Given the description of an element on the screen output the (x, y) to click on. 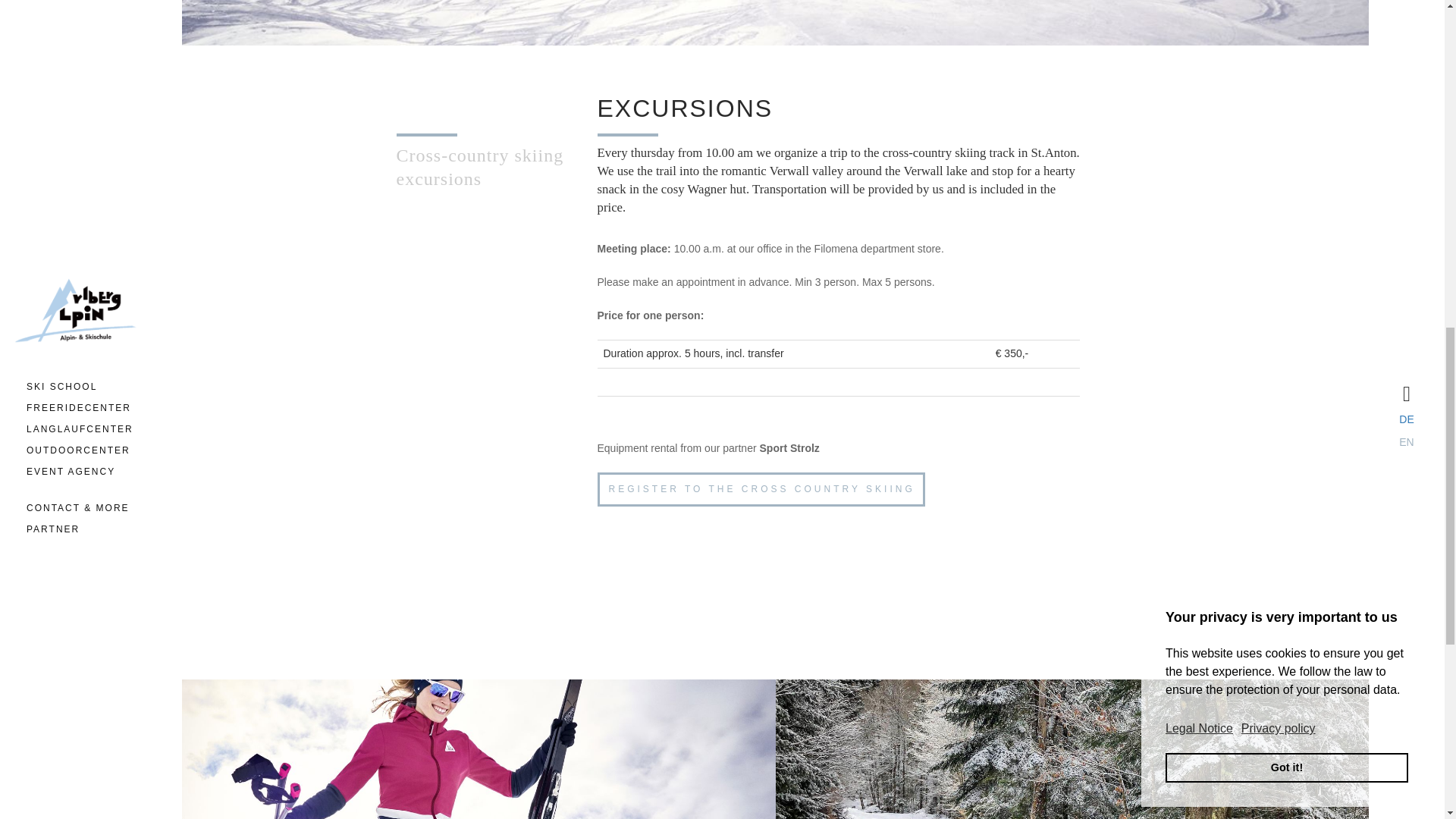
Opens internal link in current window (760, 489)
